Given the description of an element on the screen output the (x, y) to click on. 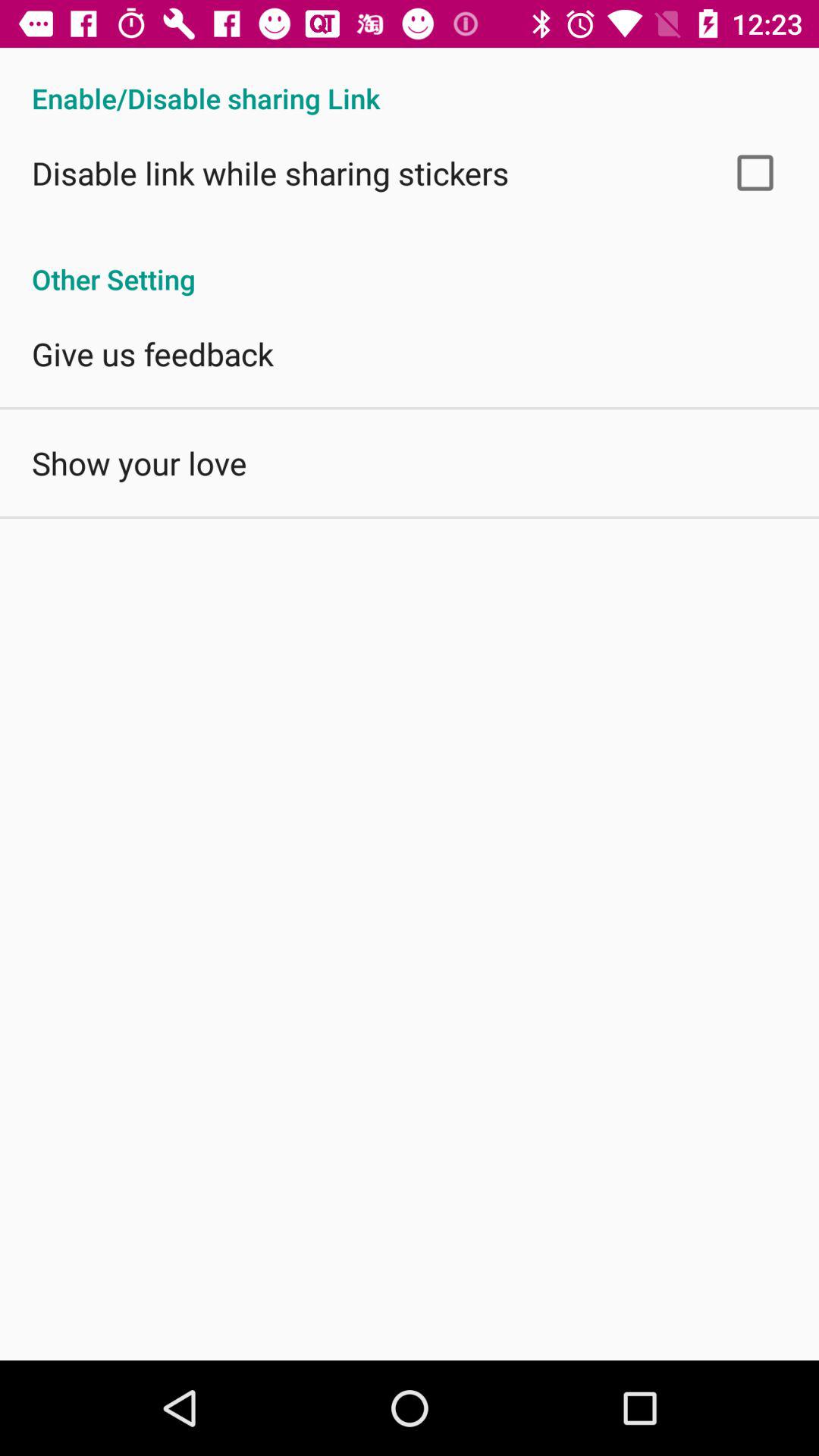
tap show your love app (138, 462)
